Given the description of an element on the screen output the (x, y) to click on. 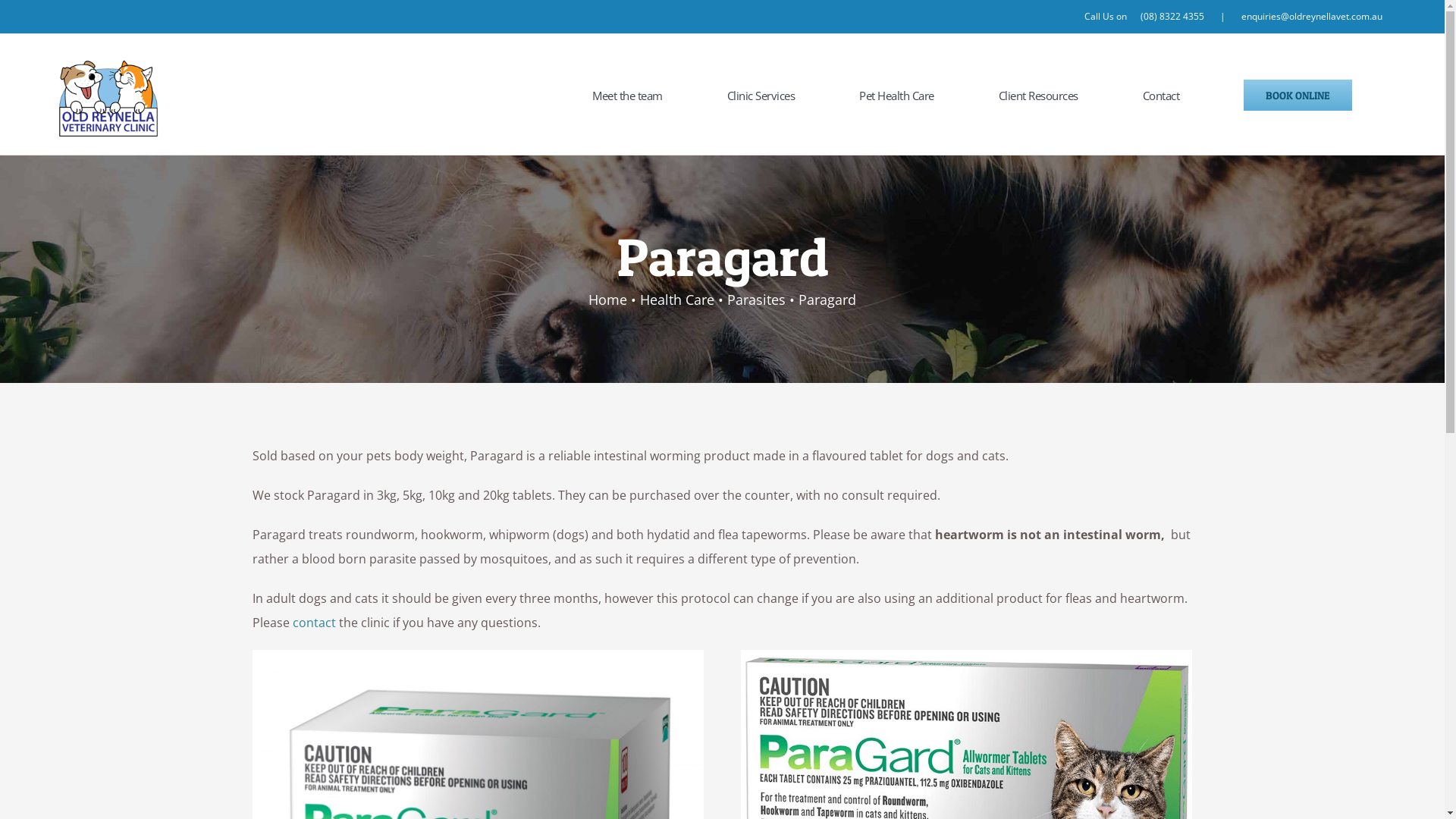
(08) 8322 4355 Element type: text (1172, 16)
BOOK ONLINE Element type: text (1297, 94)
Contact Element type: text (1161, 94)
Parasites Element type: text (756, 299)
Health Care Element type: text (677, 299)
enquiries@oldreynellavet.com.au Element type: text (1311, 16)
contact Element type: text (313, 622)
Clinic Services Element type: text (761, 94)
Home Element type: text (607, 299)
Meet the team Element type: text (627, 94)
Pet Health Care Element type: text (896, 94)
Client Resources Element type: text (1038, 94)
